Given the description of an element on the screen output the (x, y) to click on. 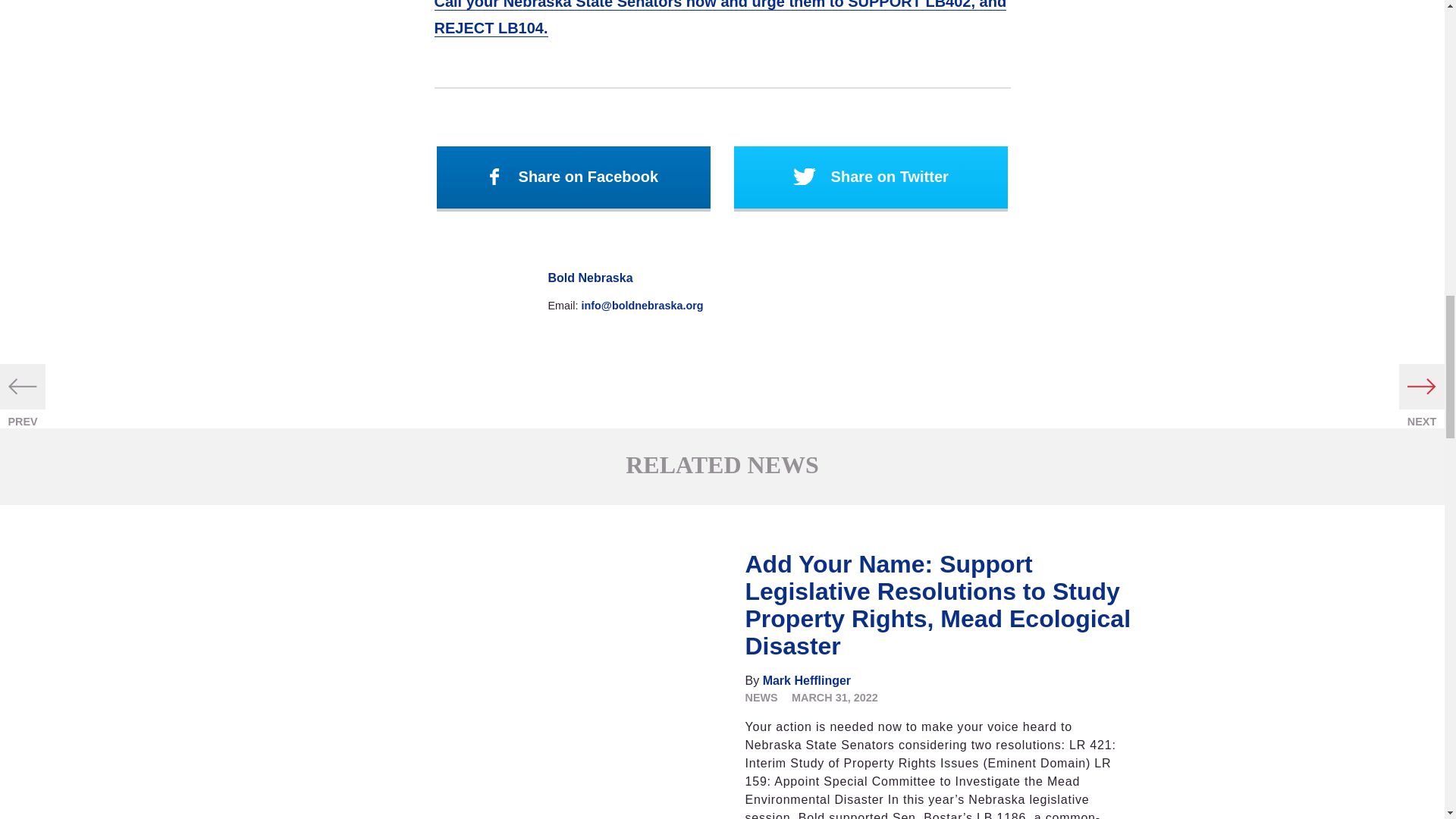
Share on Facebook (573, 178)
Share on Twitter (870, 178)
NEWS (760, 697)
Share on Twitter (870, 178)
Mark Hefflinger (806, 680)
More Info (517, 684)
Posts by Bold Nebraska (589, 277)
Bold Nebraska (589, 277)
Email the Author (641, 305)
Share on Facebook (573, 178)
